Given the description of an element on the screen output the (x, y) to click on. 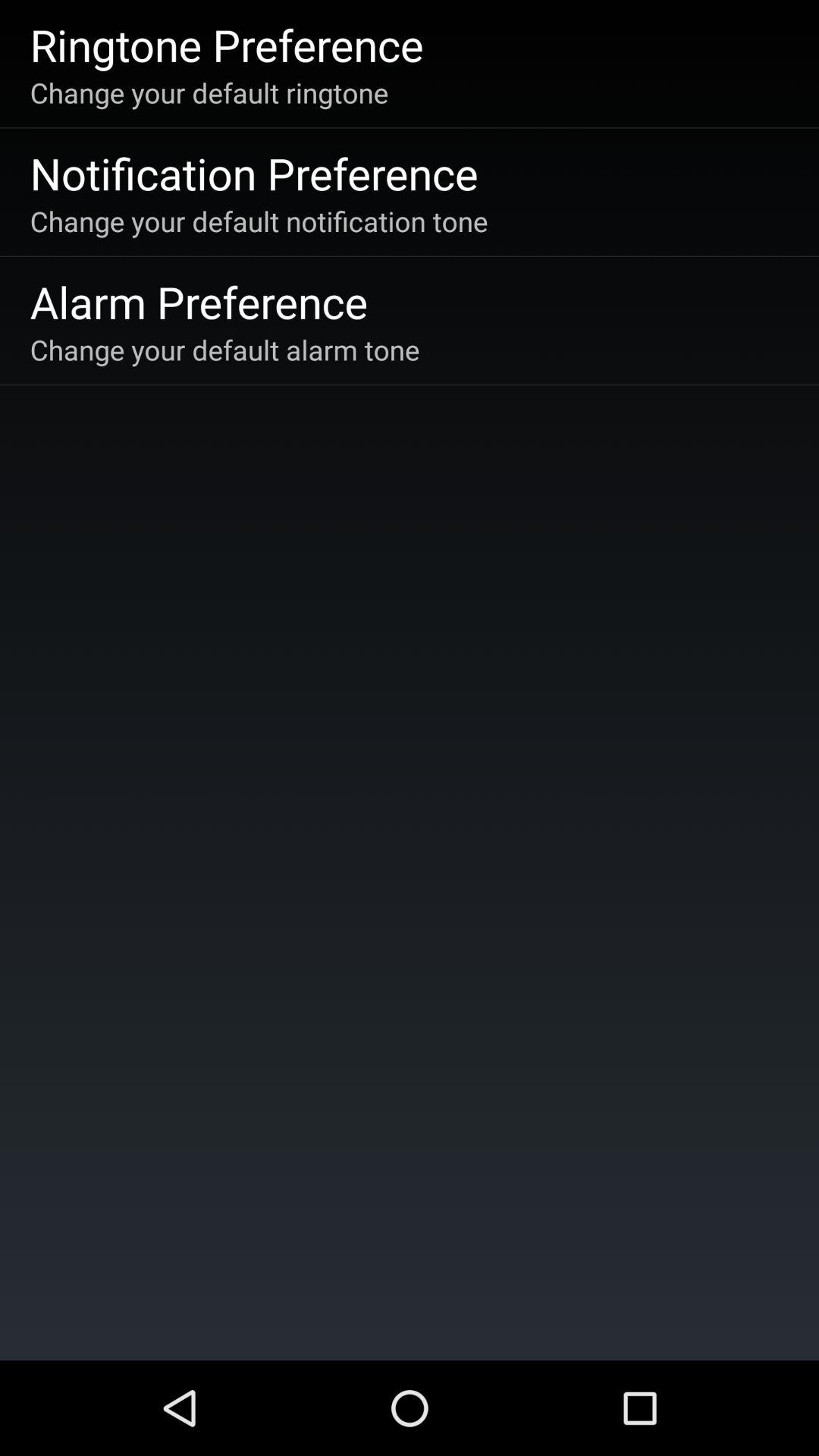
swipe until the notification preference item (254, 172)
